Given the description of an element on the screen output the (x, y) to click on. 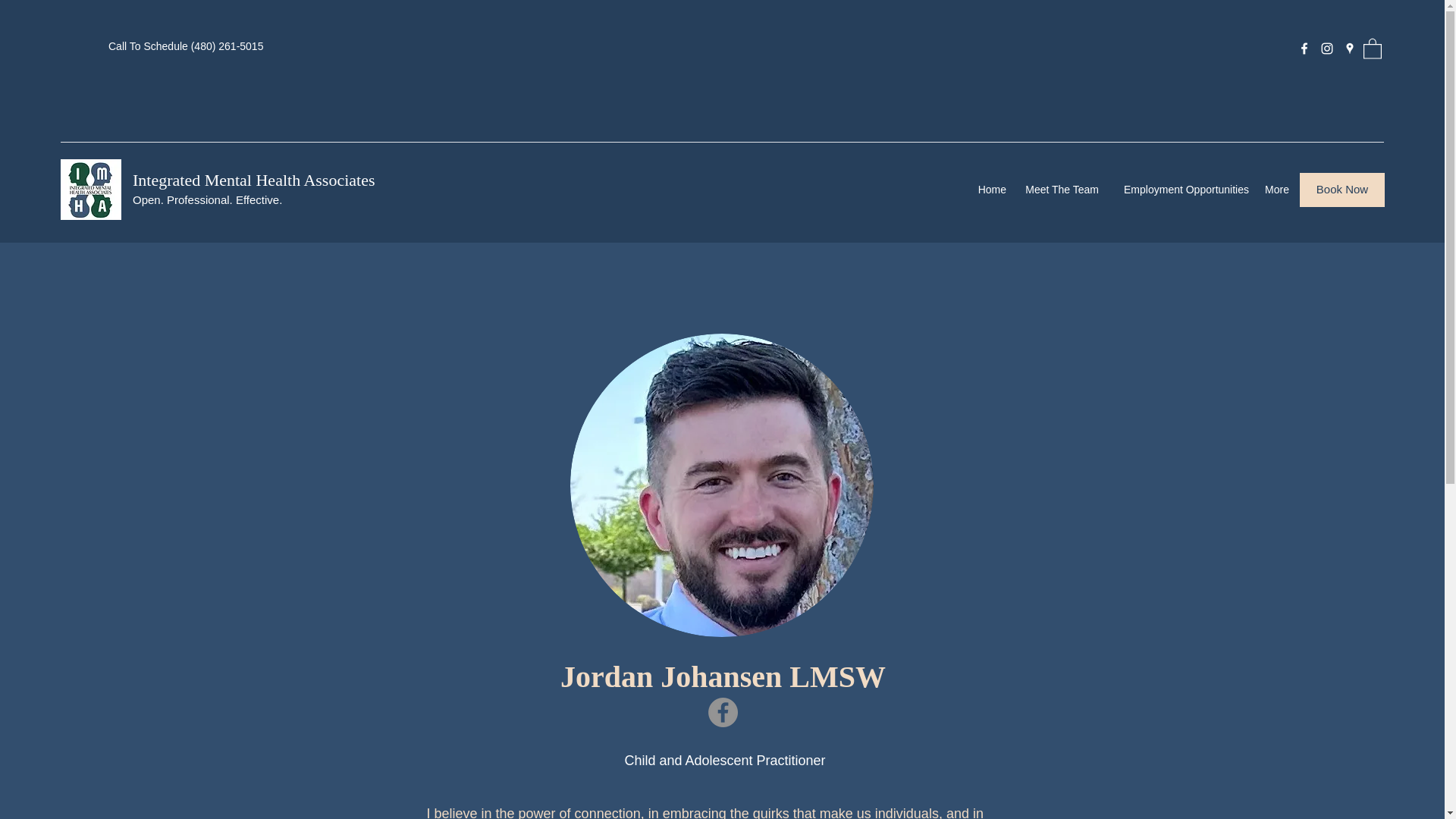
Integrated Mental Health Associates (253, 179)
Meet The Team (1059, 189)
Home (991, 189)
Employment Opportunities (1181, 189)
Book Now (1342, 189)
